Given the description of an element on the screen output the (x, y) to click on. 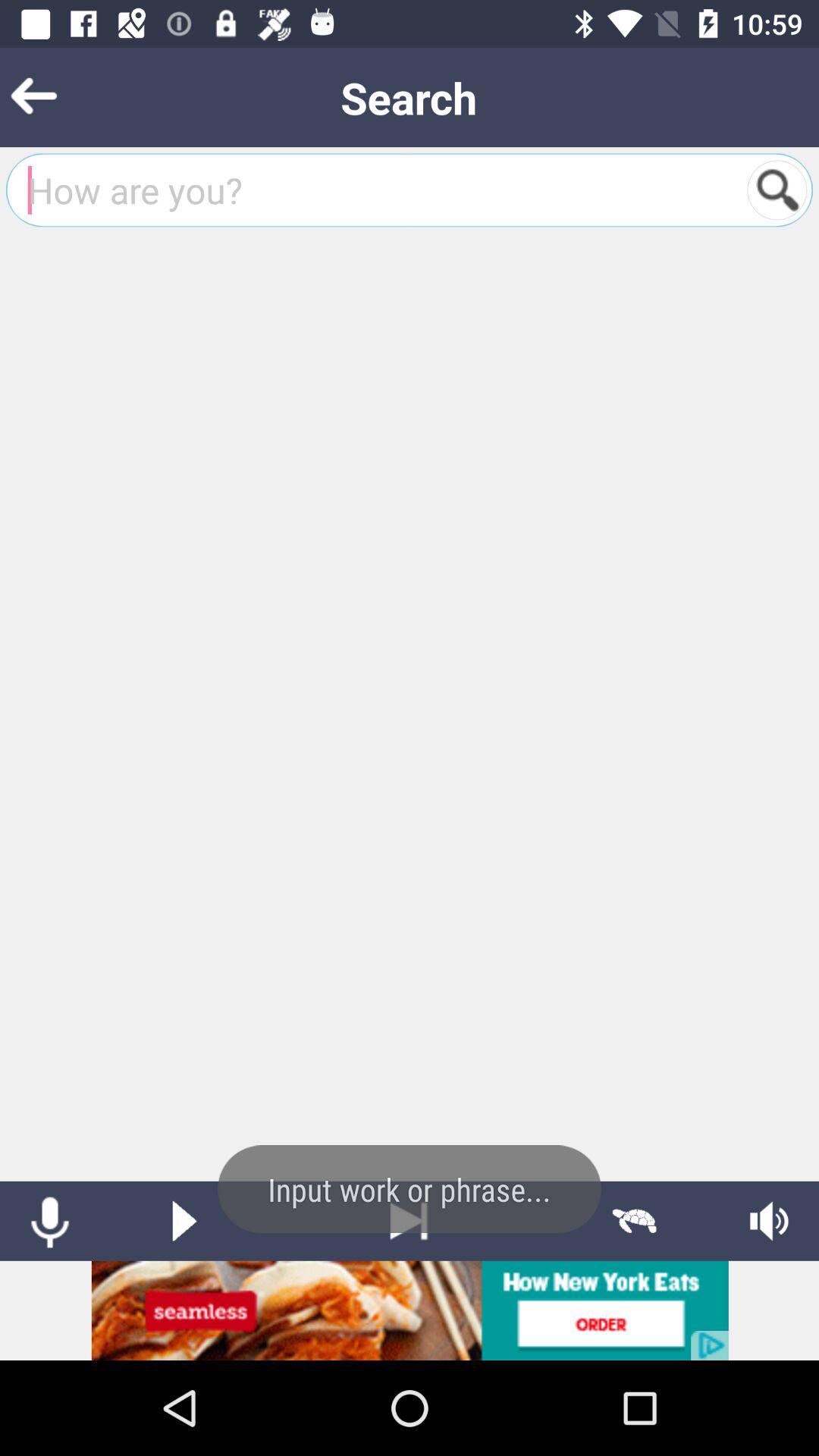
share the article (409, 1310)
